Given the description of an element on the screen output the (x, y) to click on. 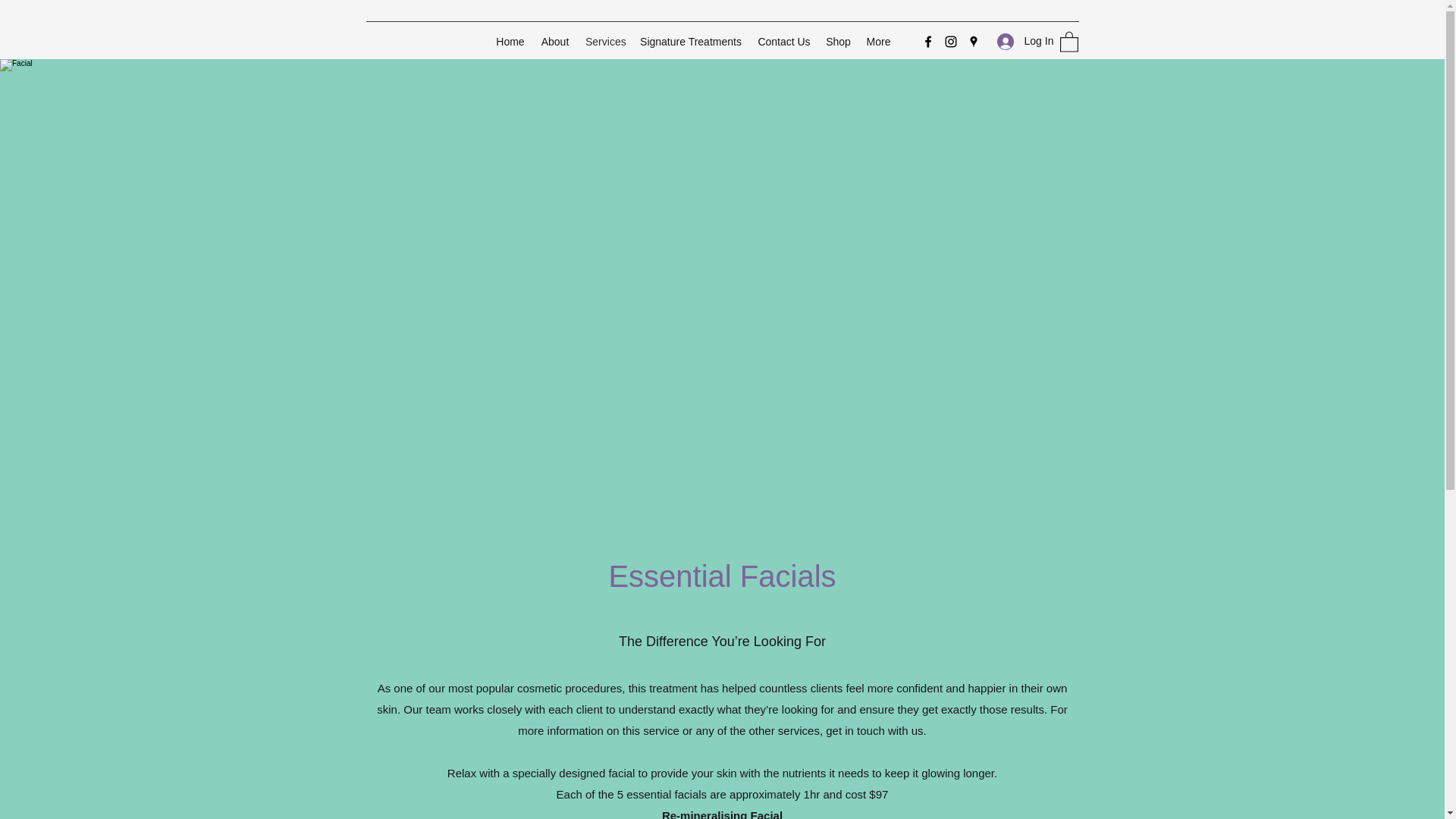
About (555, 41)
Log In (1019, 41)
Contact Us (783, 41)
Services (604, 41)
Signature Treatments (690, 41)
Shop (838, 41)
Home (509, 41)
